Given the description of an element on the screen output the (x, y) to click on. 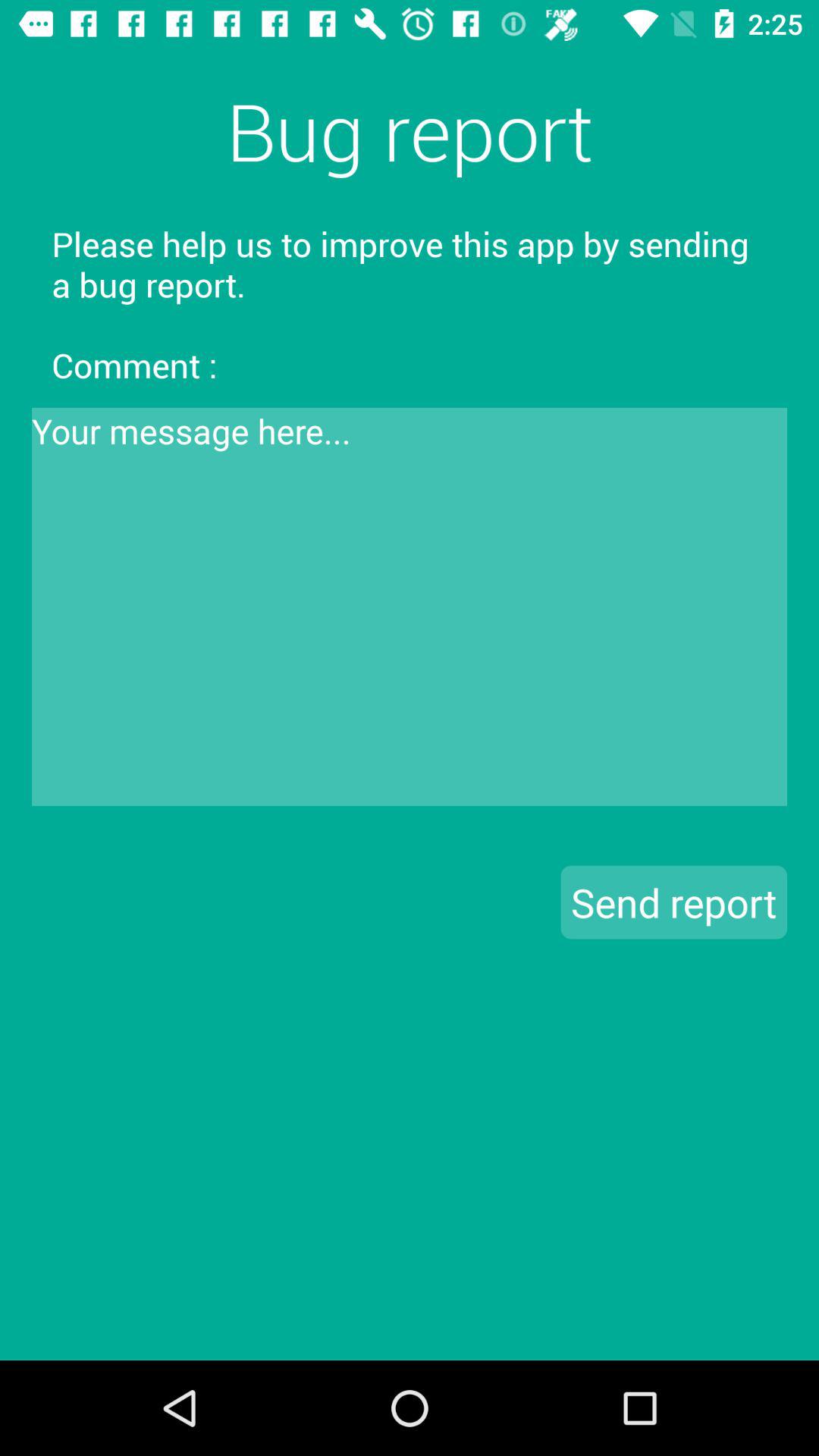
type in comment to report issues (409, 606)
